Given the description of an element on the screen output the (x, y) to click on. 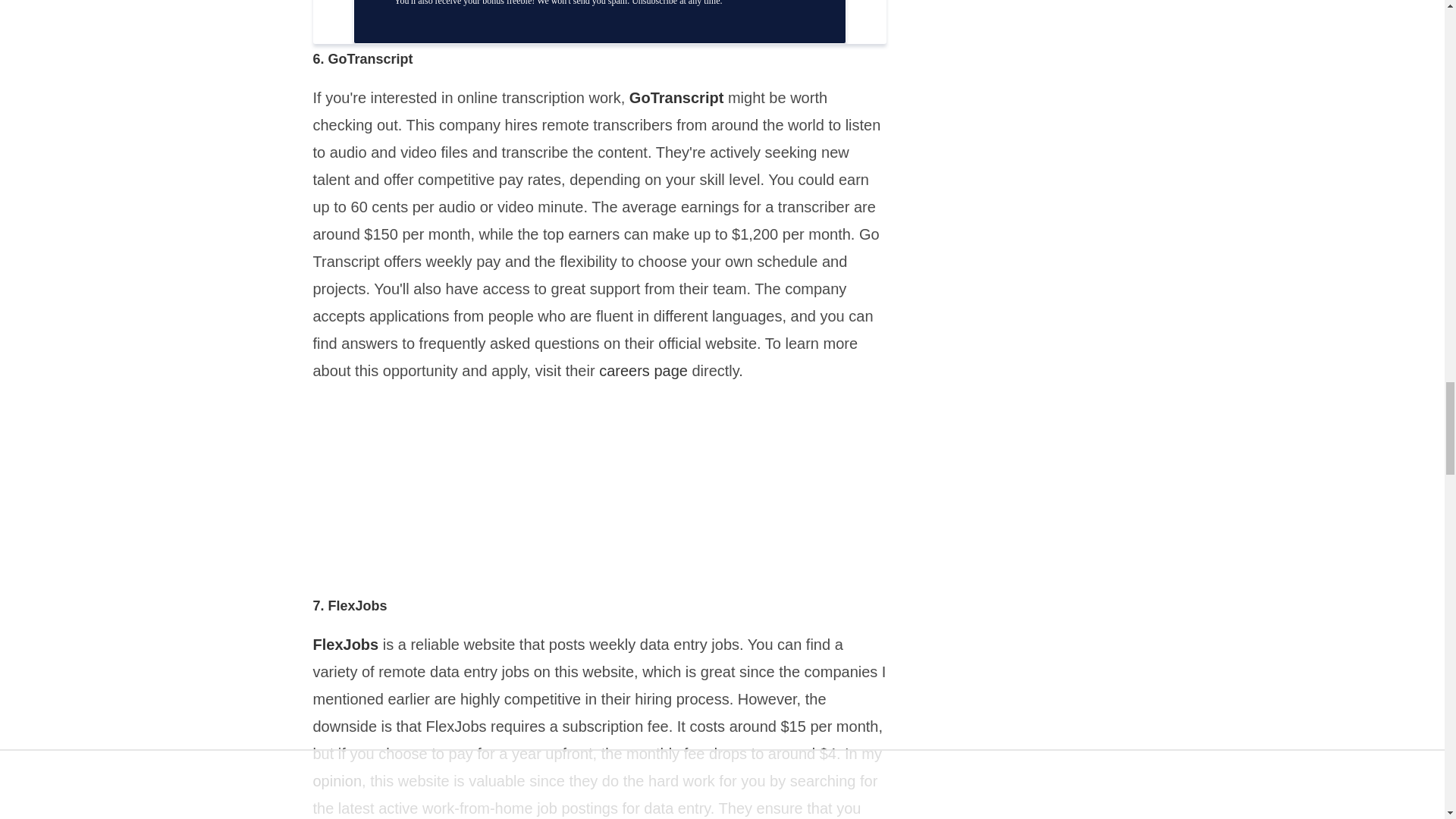
Newsletter Subscribe Form (599, 22)
Opinion Outpost (337, 781)
GoTranscript (675, 97)
careers page (642, 370)
FlexJobs (347, 644)
opinion (337, 781)
